Given the description of an element on the screen output the (x, y) to click on. 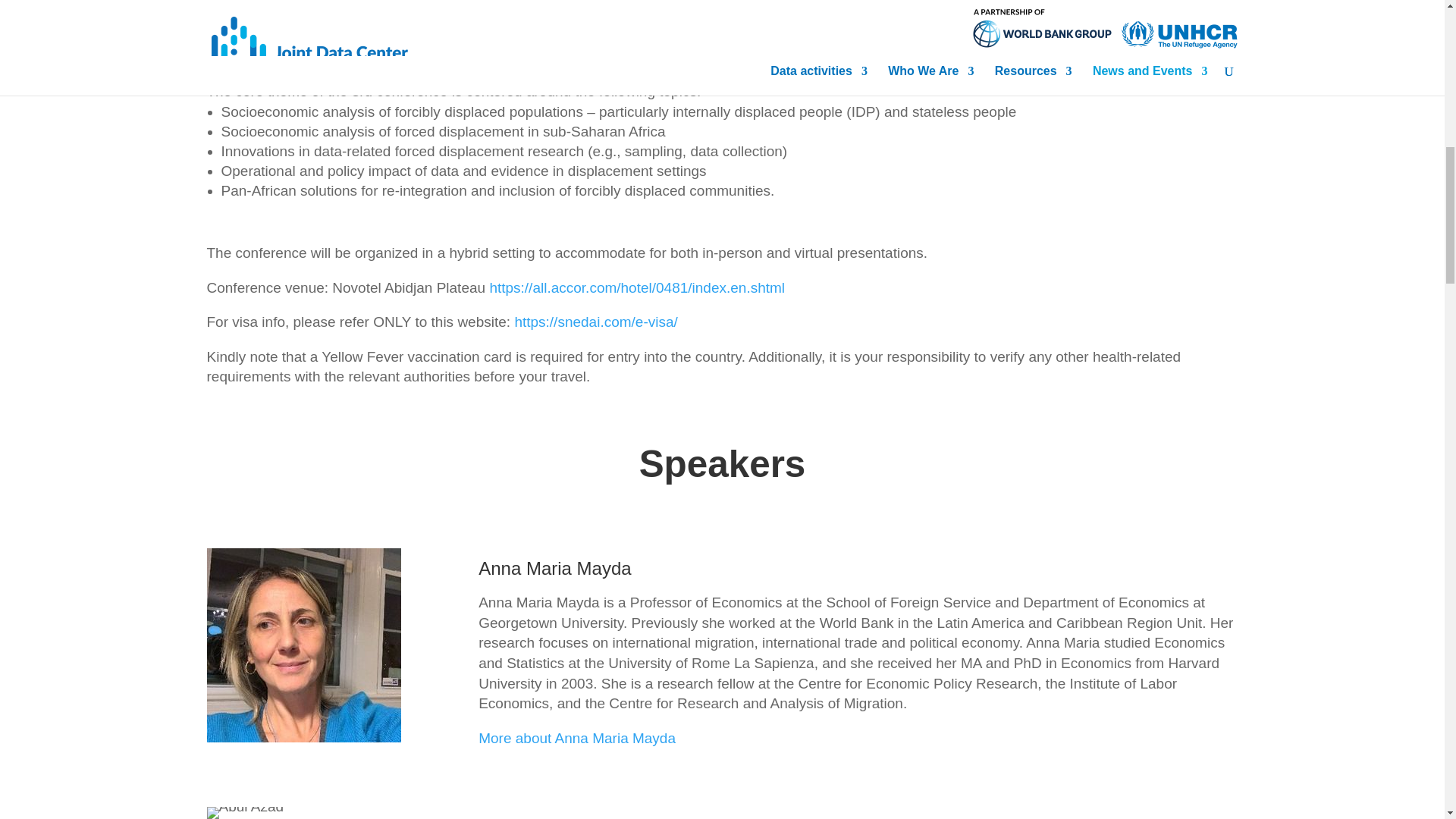
More about Anna Maria Mayda (577, 738)
Guy Grossman (244, 812)
here (777, 42)
